Given the description of an element on the screen output the (x, y) to click on. 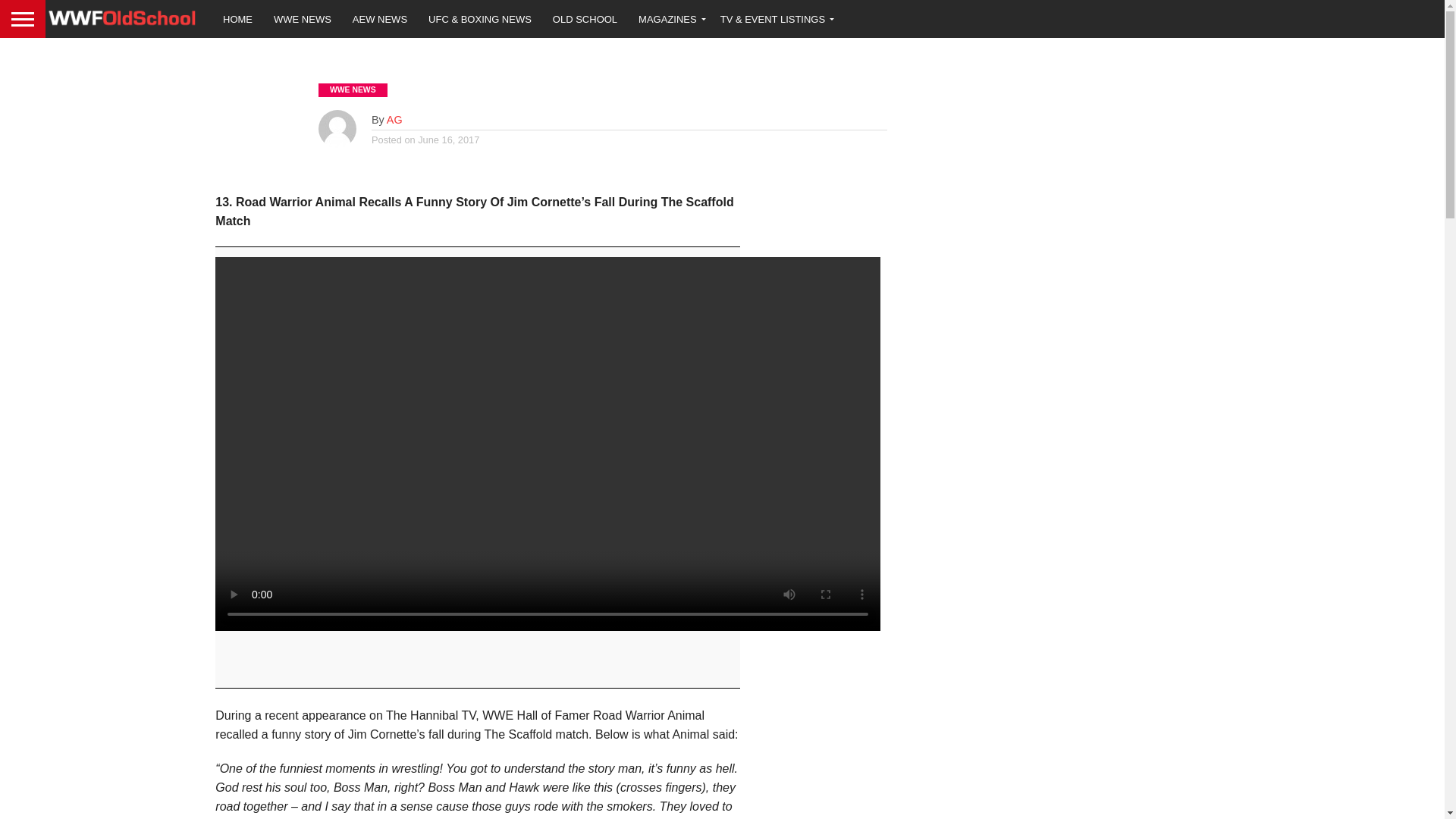
OLD SCHOOL (584, 18)
WWE NEWS (302, 18)
MAGAZINES (668, 18)
AEW NEWS (379, 18)
Posts by AG (395, 119)
HOME (237, 18)
